Given the description of an element on the screen output the (x, y) to click on. 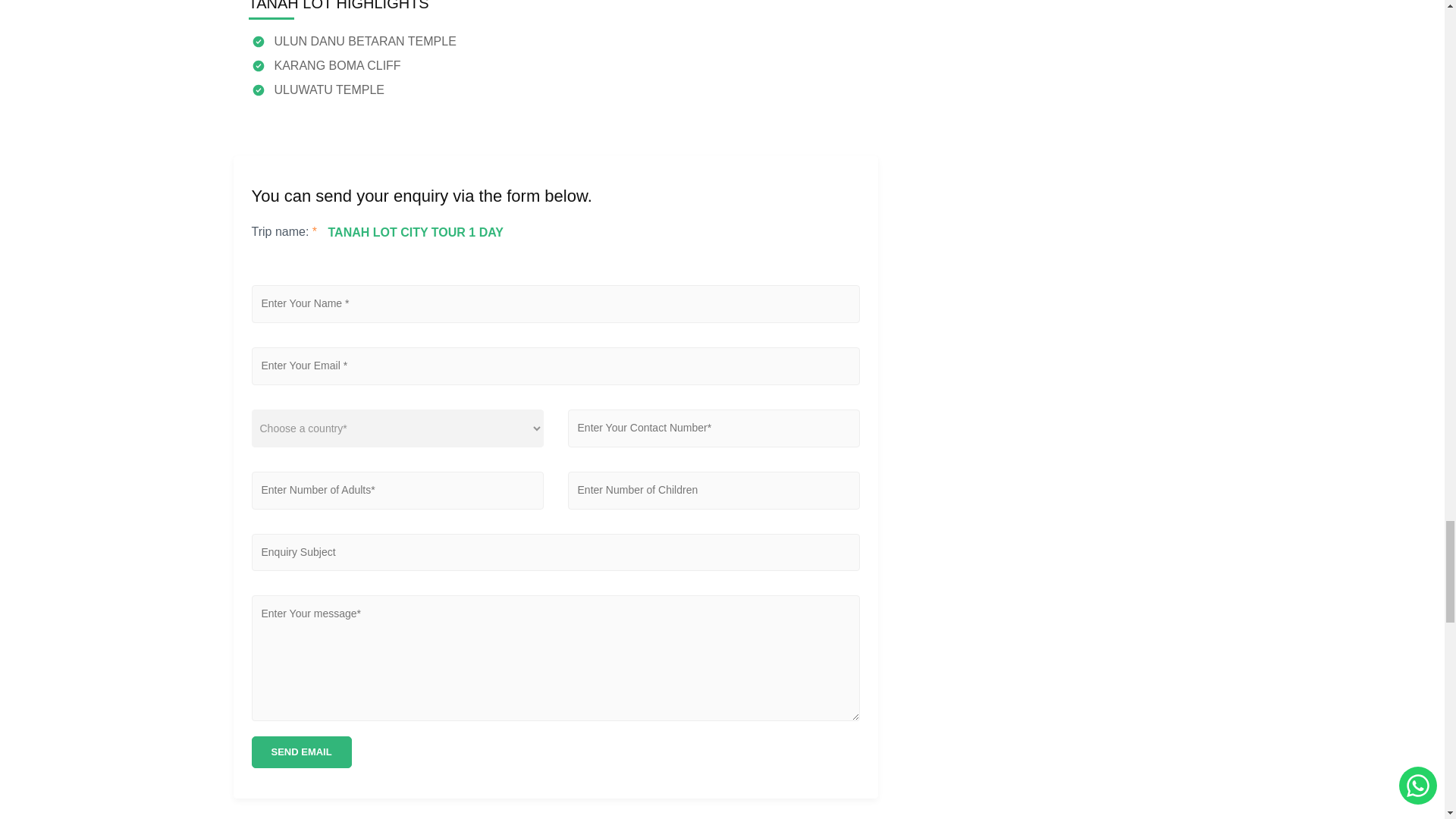
Send Email (301, 752)
